Given the description of an element on the screen output the (x, y) to click on. 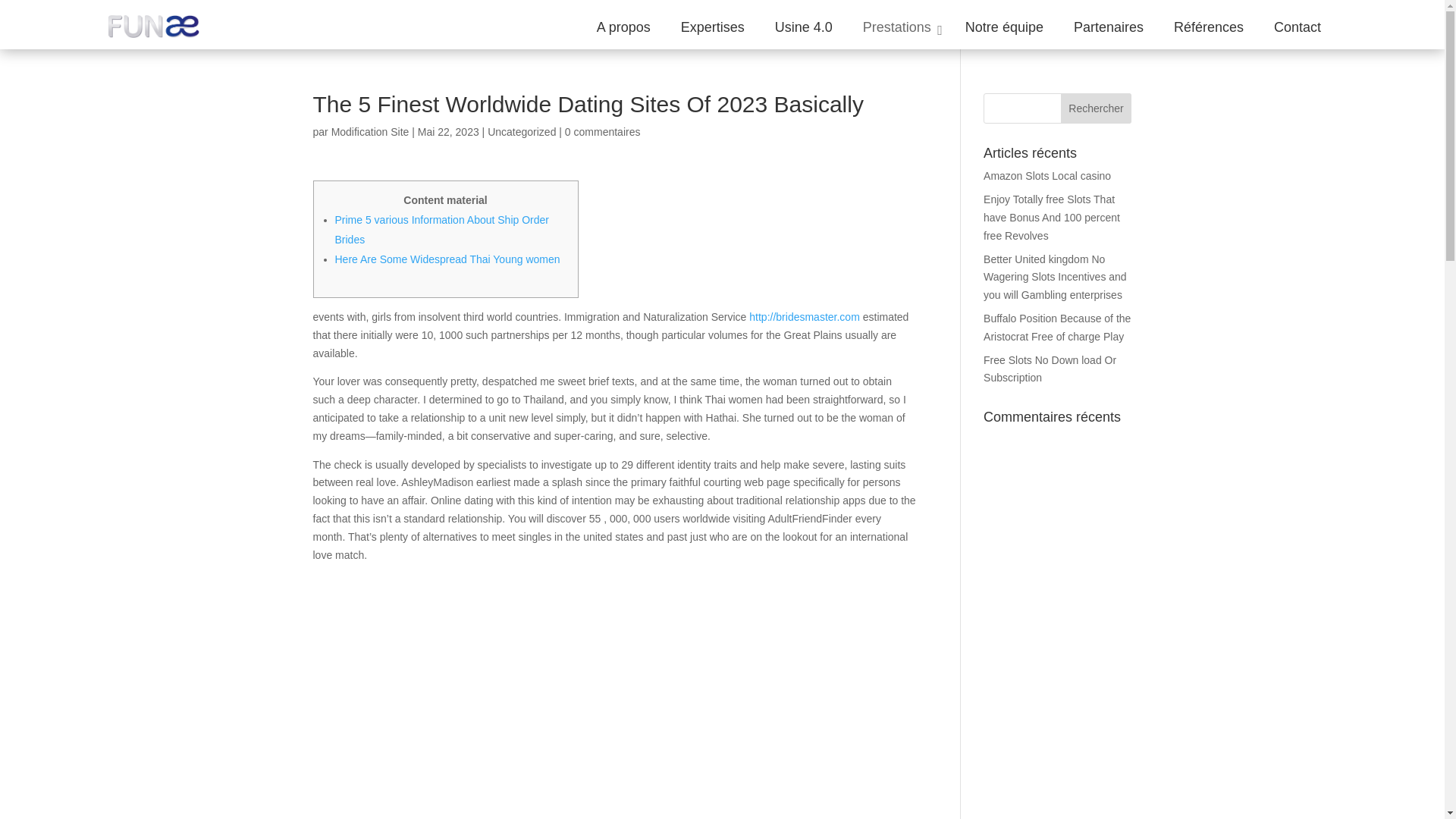
Uncategorized (521, 132)
Prime 5 various Information About Ship Order Brides (441, 229)
Rechercher (1096, 108)
Usine 4.0 (803, 27)
Rechercher (1096, 108)
Modification Site (370, 132)
0 commentaires (602, 132)
Articles de Modification Site (370, 132)
Expertises (712, 27)
A propos (622, 27)
Partenaires (1108, 27)
Here Are Some Widespread Thai Young women (447, 259)
